Given the description of an element on the screen output the (x, y) to click on. 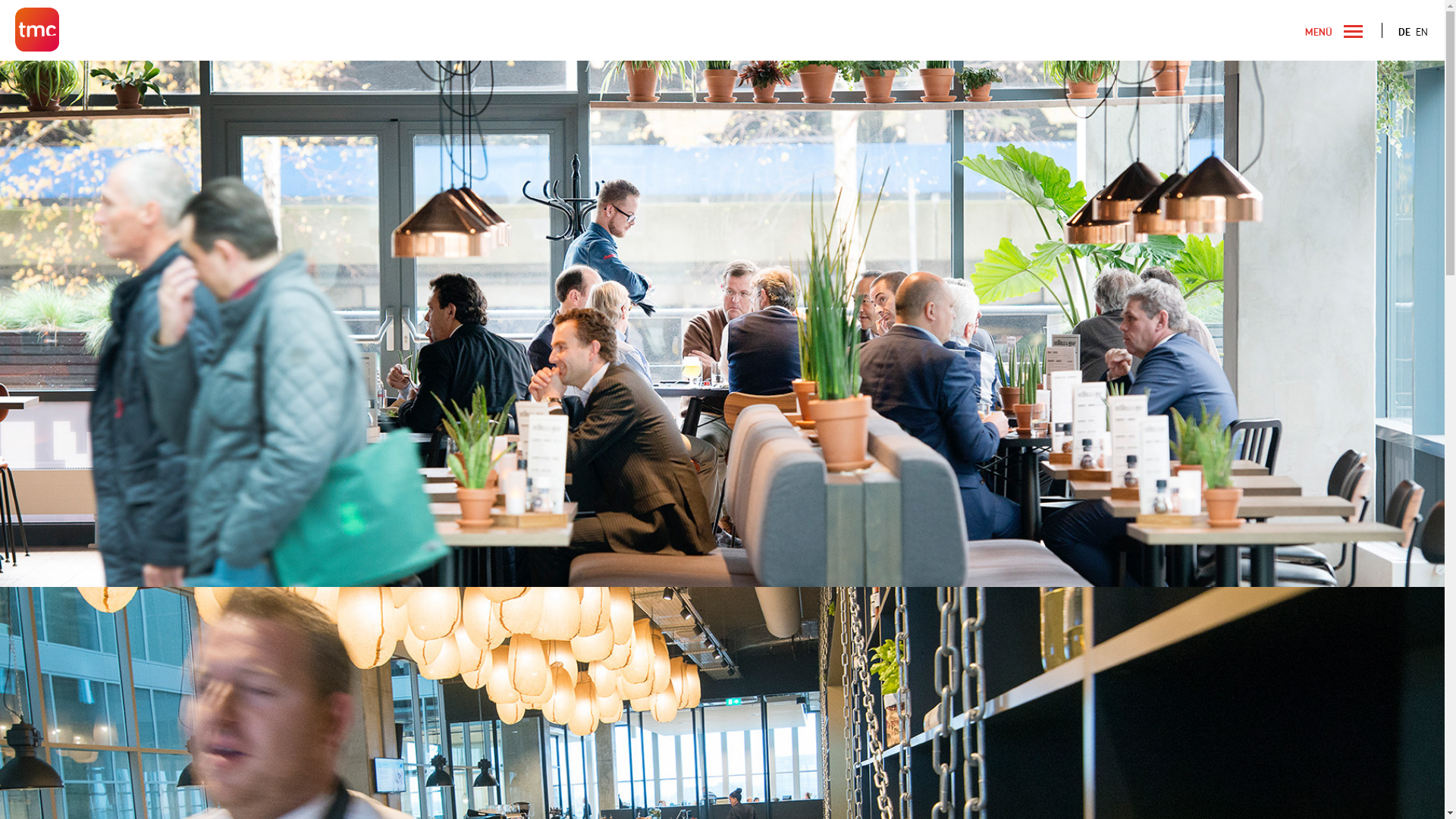
DE Element type: text (1404, 31)
EN Element type: text (1421, 31)
